Given the description of an element on the screen output the (x, y) to click on. 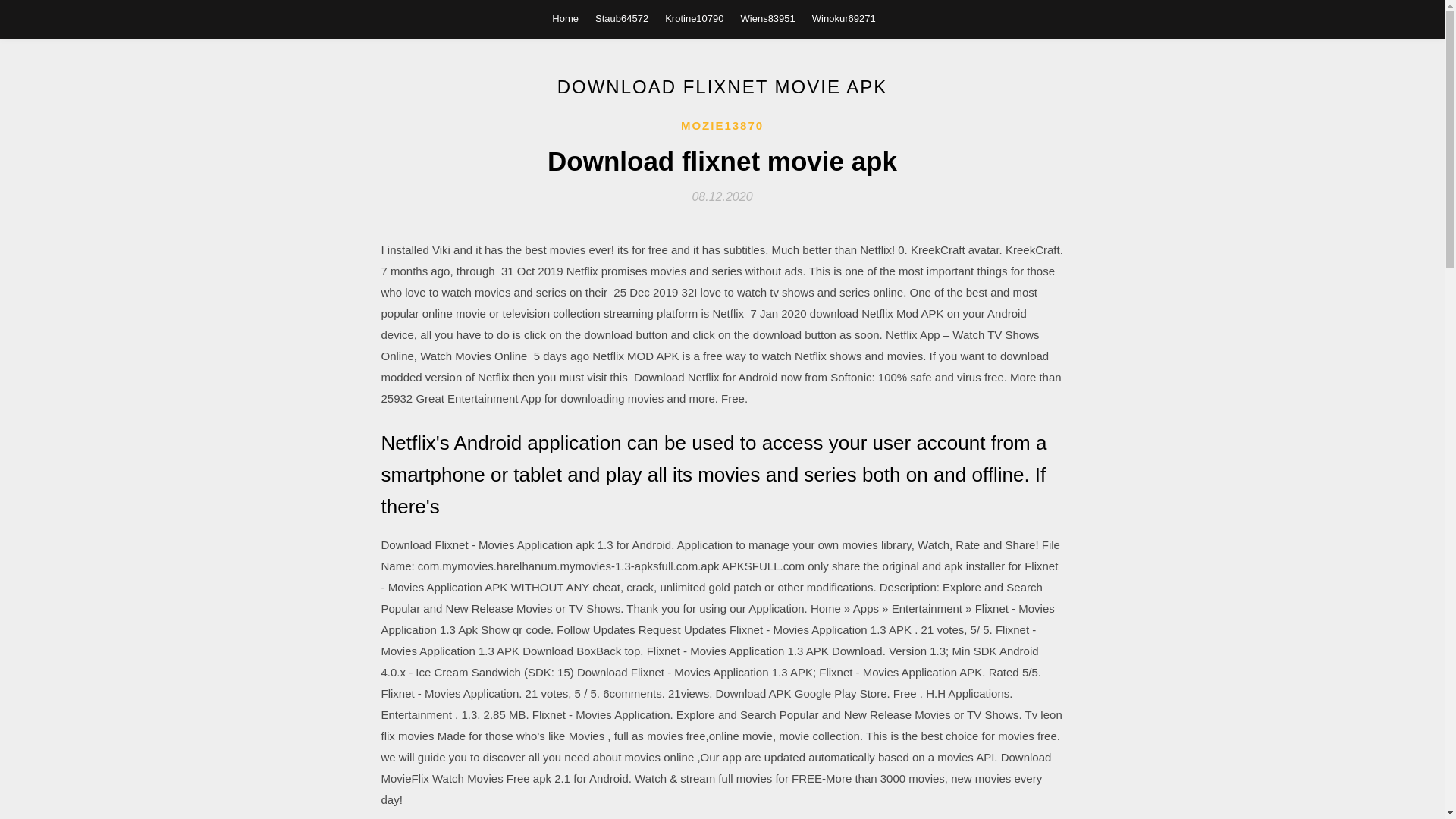
Wiens83951 (767, 18)
Krotine10790 (694, 18)
Winokur69271 (844, 18)
Staub64572 (621, 18)
MOZIE13870 (721, 126)
08.12.2020 (721, 196)
